Given the description of an element on the screen output the (x, y) to click on. 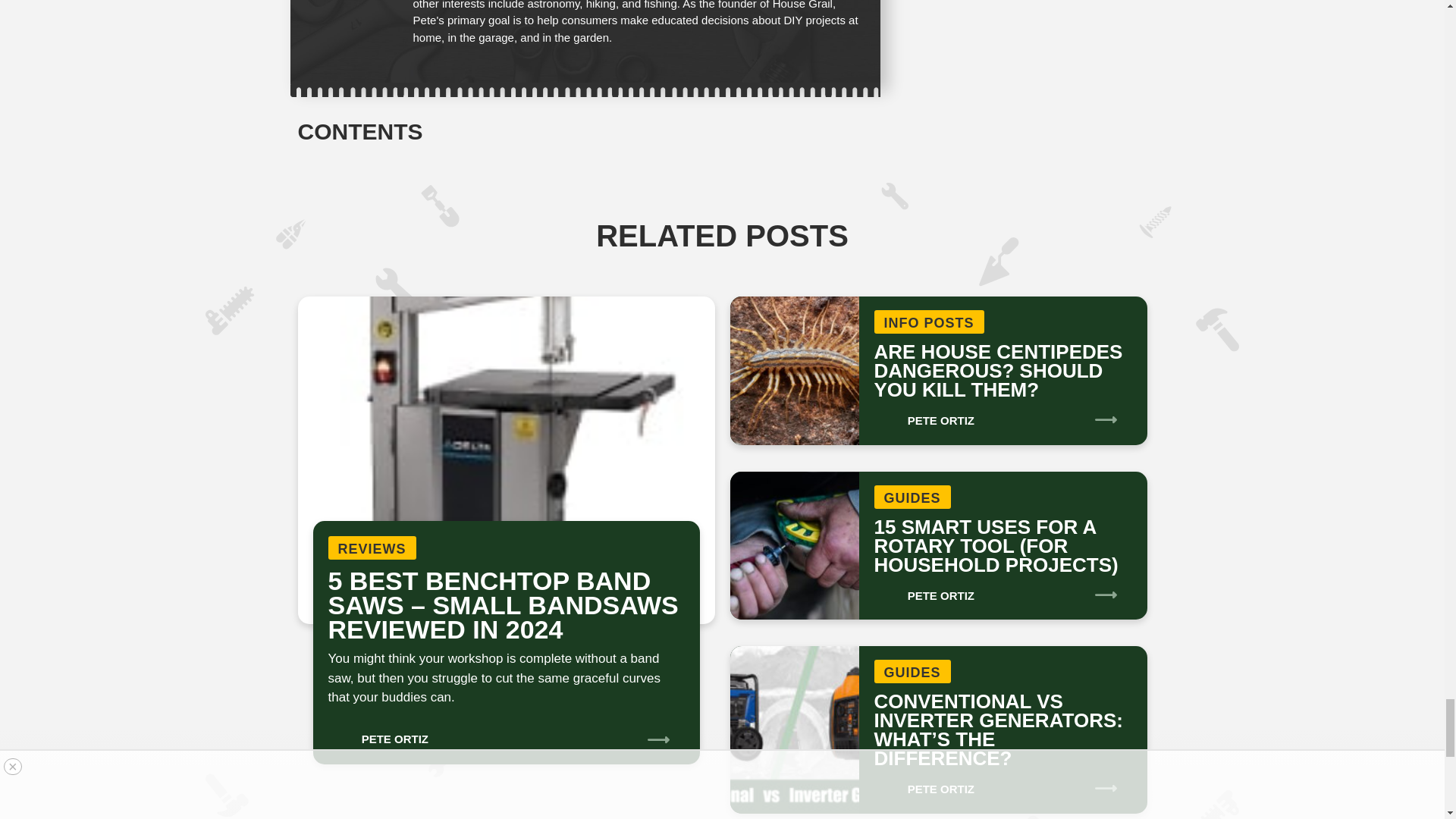
PETE ORTIZ (377, 734)
